Given the description of an element on the screen output the (x, y) to click on. 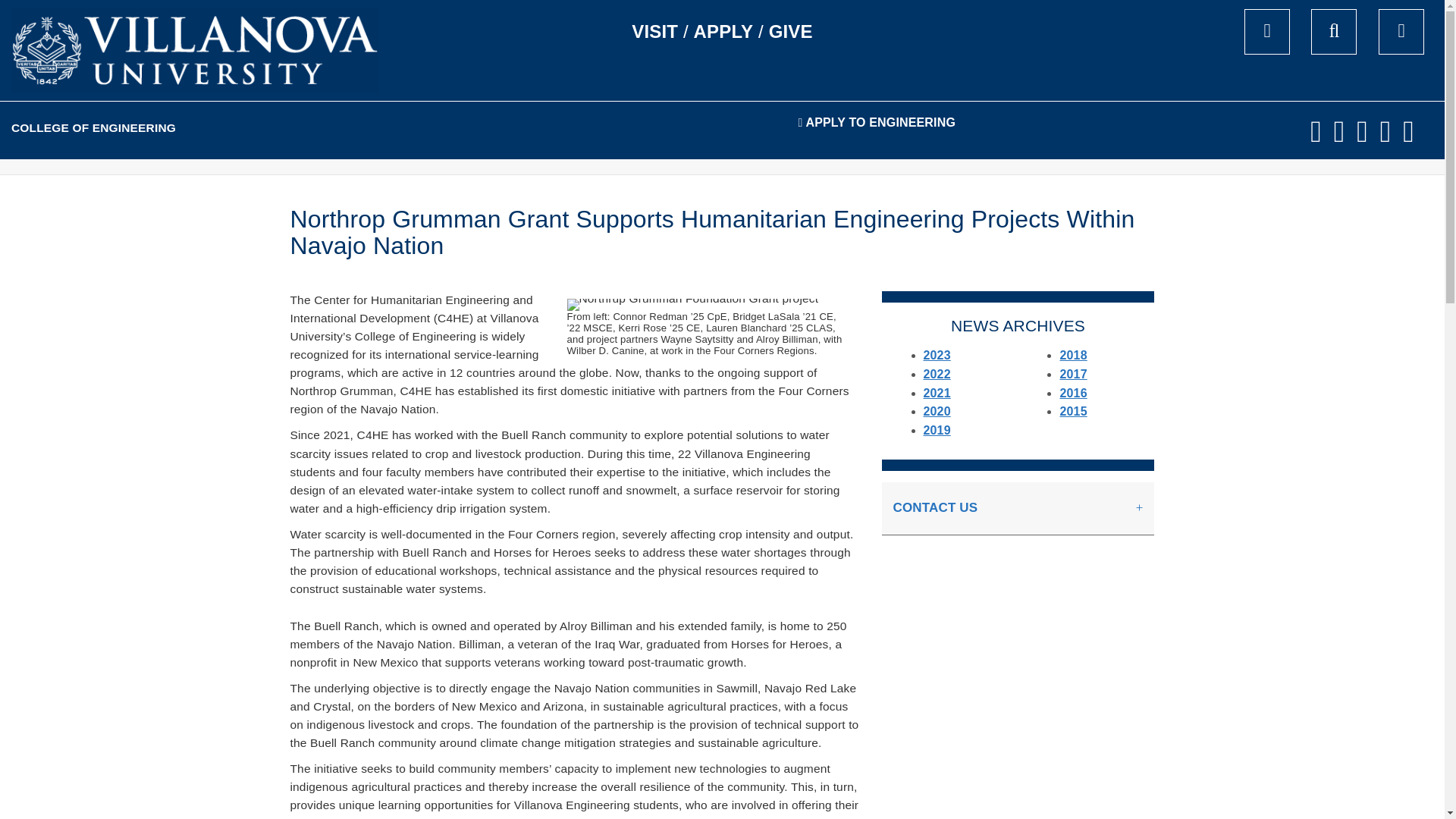
VISIT (654, 31)
APPLY (724, 31)
link to 2023 news (936, 354)
northrop-grumman-1 (692, 304)
link to 2022 news (936, 373)
GIVE (790, 31)
